Given the description of an element on the screen output the (x, y) to click on. 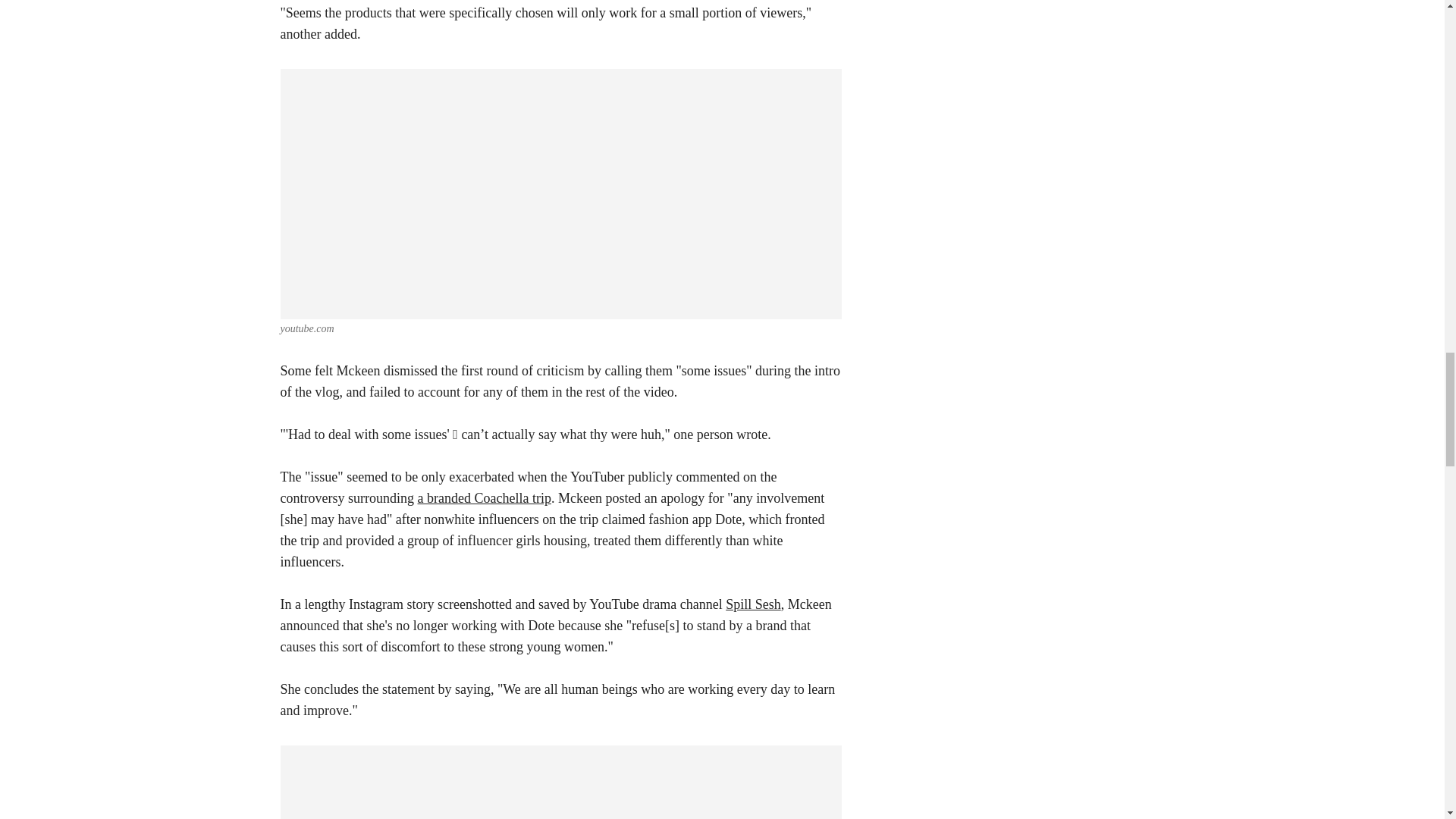
Spill Sesh (752, 604)
a branded Coachella trip (483, 498)
youtube.com (307, 328)
